Given the description of an element on the screen output the (x, y) to click on. 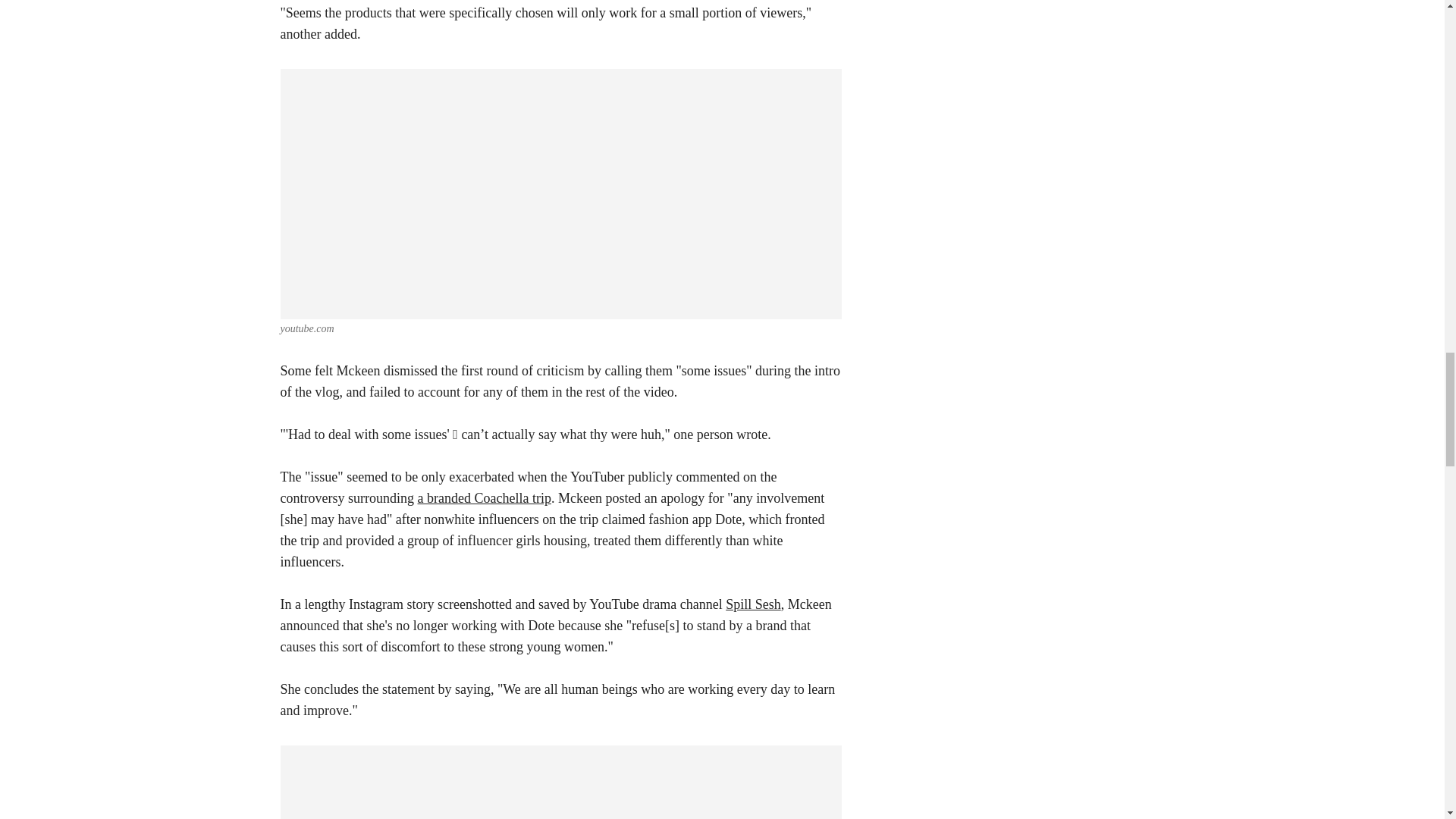
Spill Sesh (752, 604)
a branded Coachella trip (483, 498)
youtube.com (307, 328)
